Given the description of an element on the screen output the (x, y) to click on. 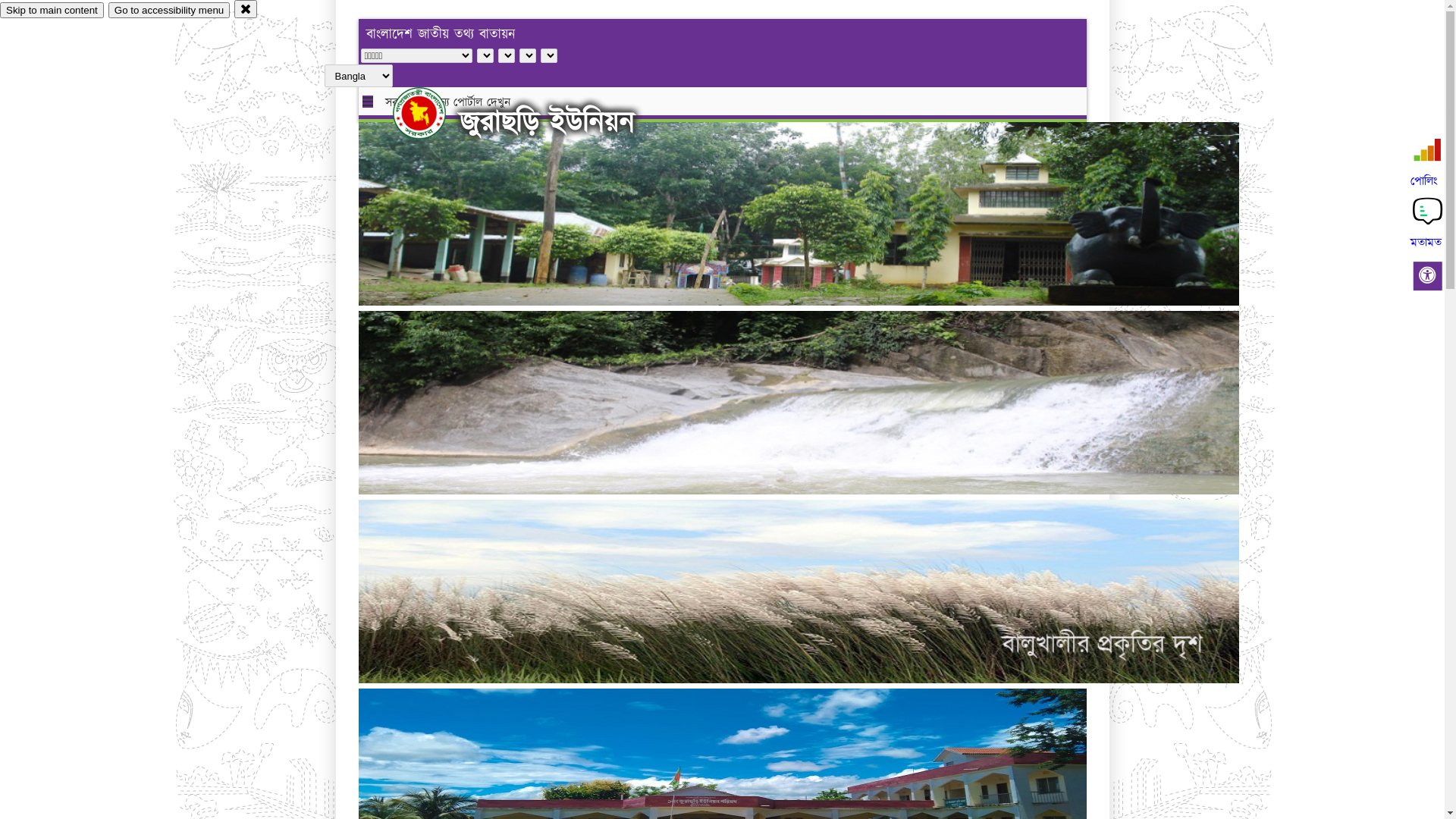
close Element type: hover (245, 9)
Skip to main content Element type: text (51, 10)
Go to accessibility menu Element type: text (168, 10)

                
             Element type: hover (431, 112)
